Given the description of an element on the screen output the (x, y) to click on. 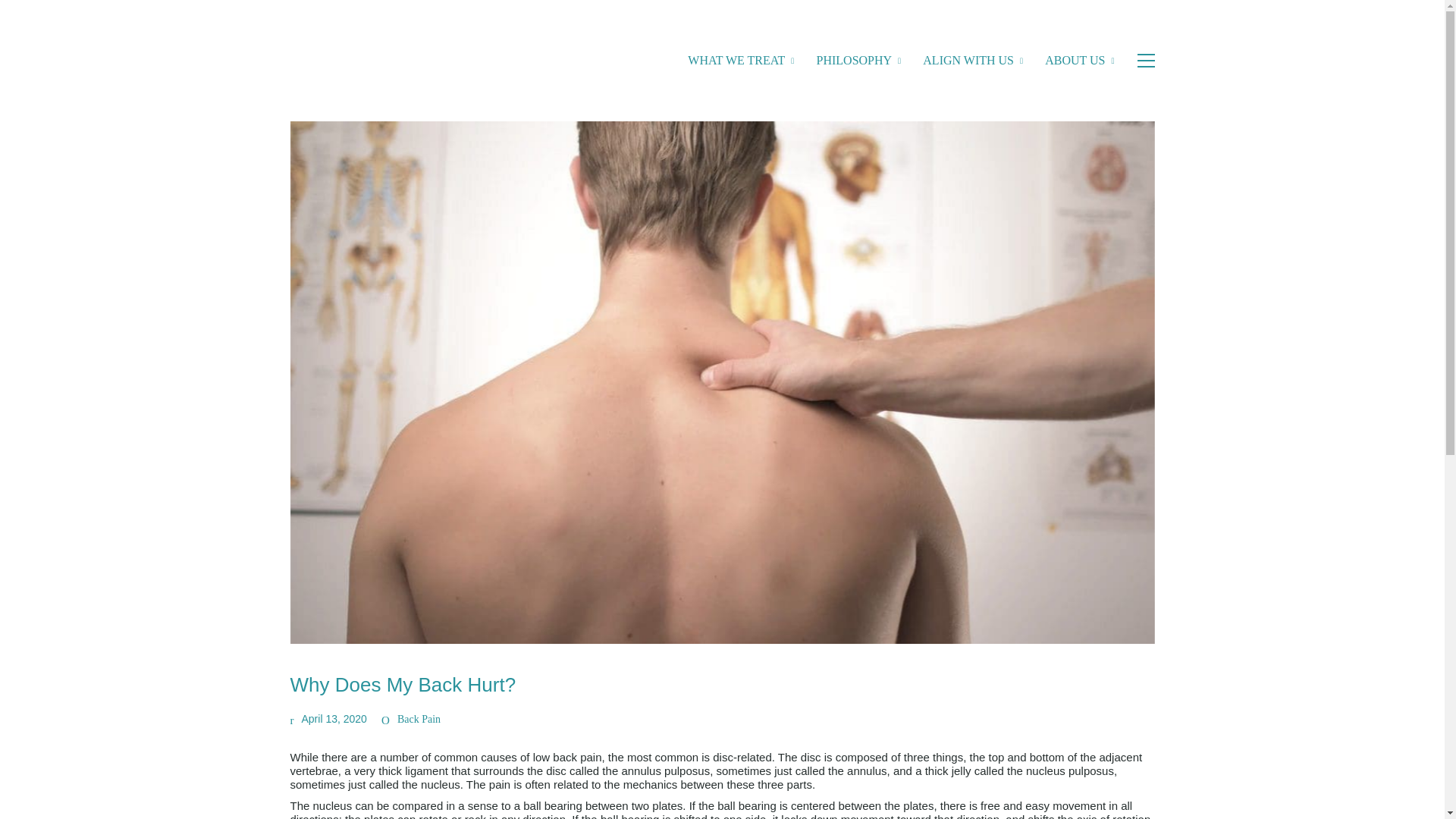
ABOUT US (1079, 60)
ALIGN WITH US (973, 60)
WHAT WE TREAT (740, 60)
PHILOSOPHY (858, 60)
